Given the description of an element on the screen output the (x, y) to click on. 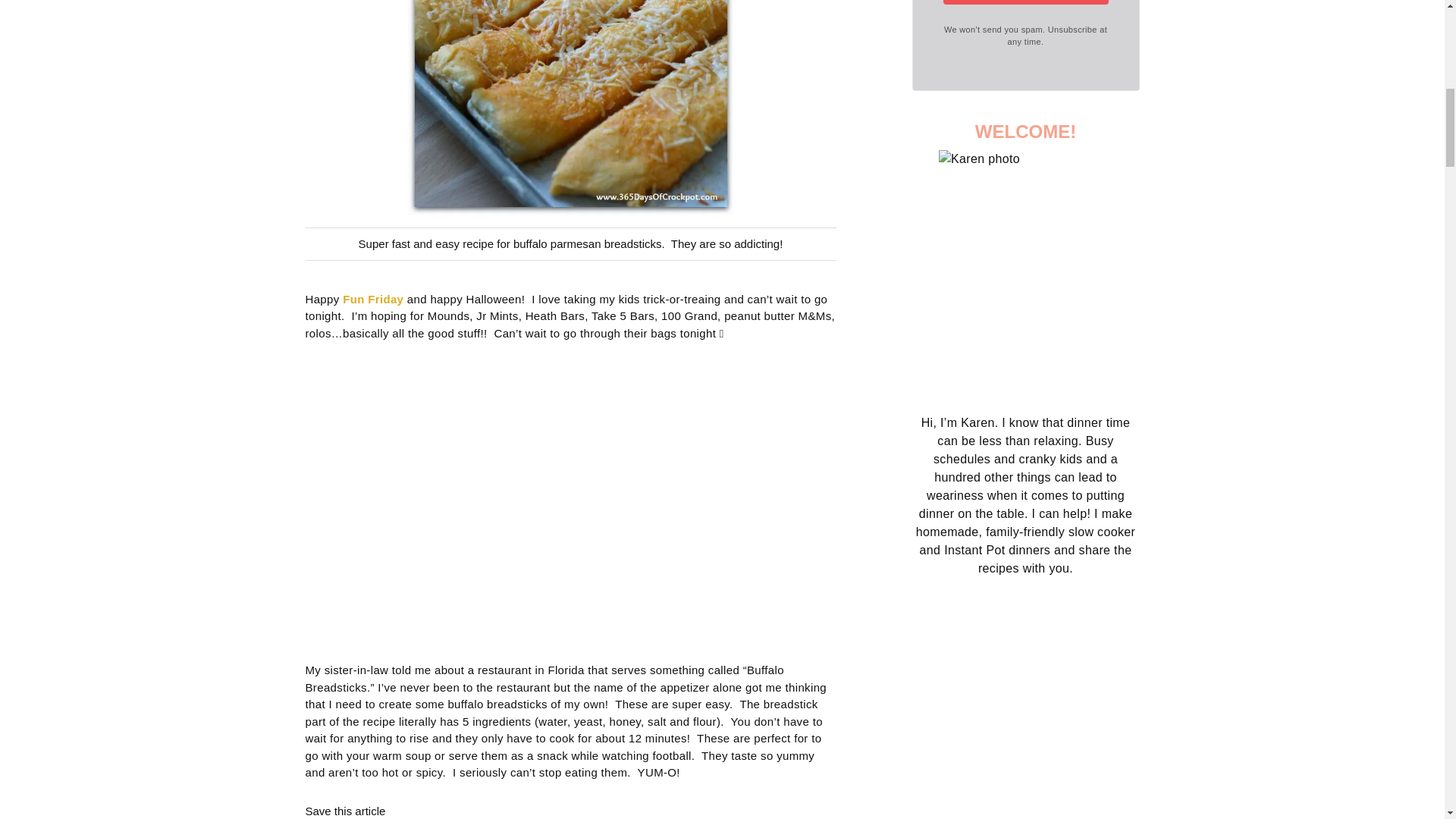
Recipe for Buffalo Parmesan Breadsticks (570, 107)
SUBSCRIBE ME! (1025, 2)
Fun Friday (372, 298)
